Given the description of an element on the screen output the (x, y) to click on. 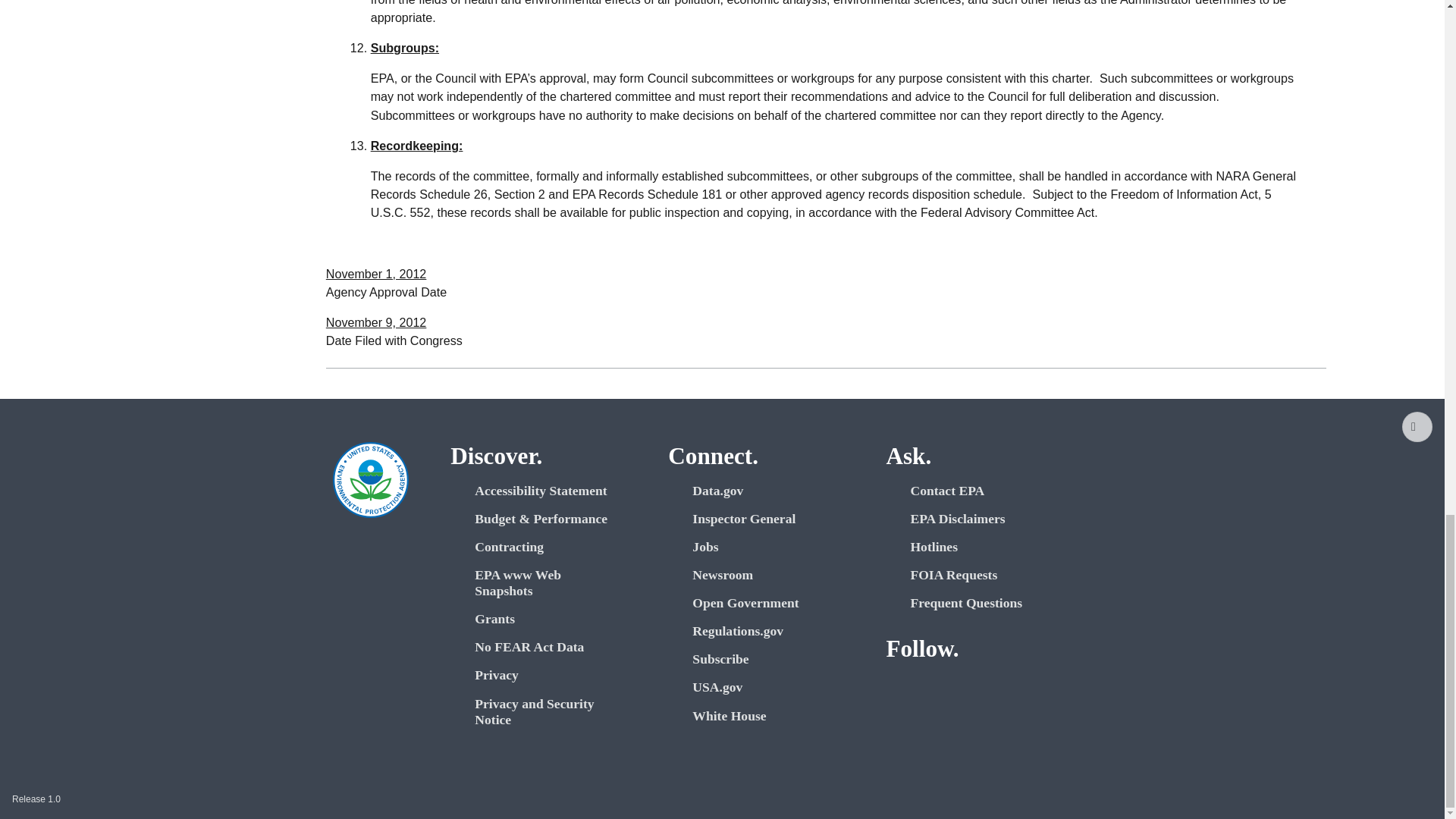
Newsroom (761, 575)
Grants (543, 618)
Open Government (761, 602)
Inspector General (761, 519)
Hotlines (979, 546)
Subscribe (761, 659)
Jobs (761, 546)
Contact EPA (979, 490)
Privacy (543, 675)
EPA Disclaimers (979, 519)
Start of page (1417, 426)
No FEAR Act Data (543, 647)
Contracting (543, 546)
Privacy and Security Notice (543, 712)
Accessibility Statement (543, 490)
